Given the description of an element on the screen output the (x, y) to click on. 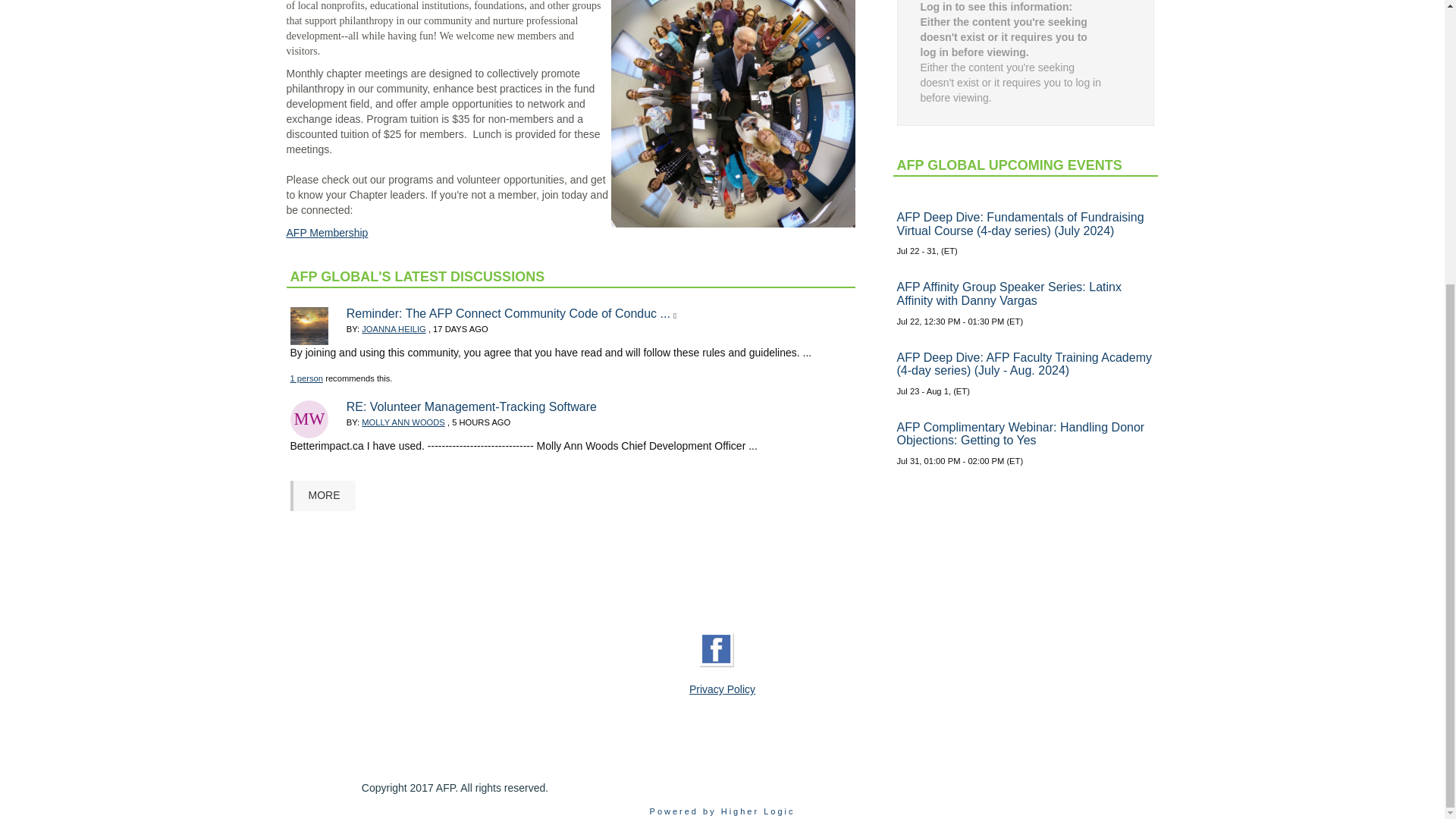
1 person (306, 378)
Reminder: The AFP Connect Community Code of Conduc ... (507, 313)
More (322, 495)
RE: Volunteer Management-Tracking Software (471, 406)
AFP Group (733, 113)
JOANNA HEILIG (393, 328)
Joanna Heilig (308, 325)
Reminder: The AFP Connect Community Code of Conduct (507, 313)
Molly Ann Woods (308, 419)
AFP Membership  (327, 232)
AFP Membership (327, 232)
